Given the description of an element on the screen output the (x, y) to click on. 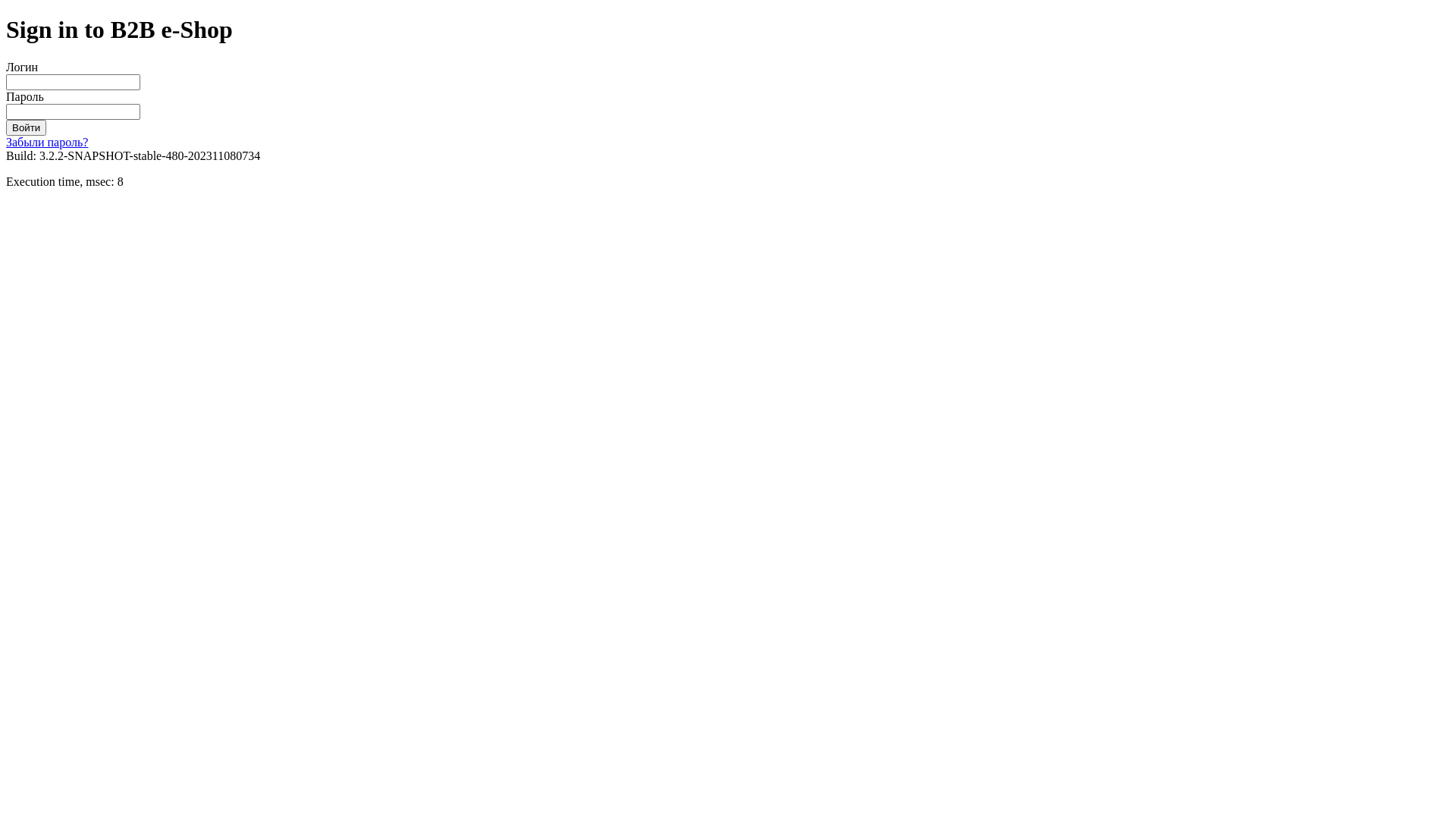
Execution time, msec: 8 Element type: text (64, 181)
